Given the description of an element on the screen output the (x, y) to click on. 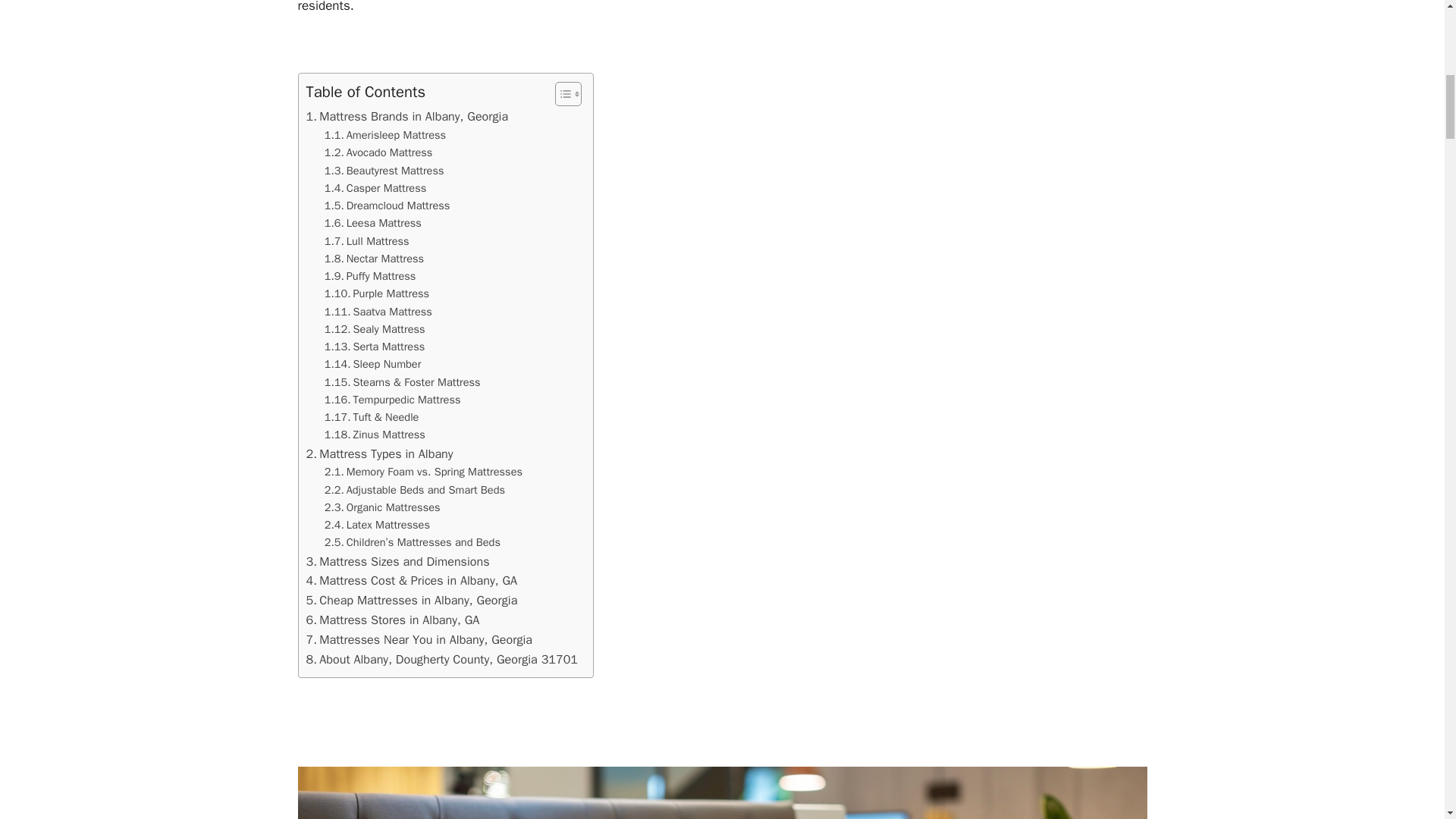
Avocado Mattress (378, 152)
Puffy Mattress (370, 276)
Beautyrest Mattress (384, 170)
Dreamcloud Mattress (386, 205)
Mattress Brands in Albany, Georgia (406, 116)
Amerisleep Mattress (384, 135)
Saatva Mattress (378, 312)
Casper Mattress (375, 188)
Nectar Mattress (373, 258)
Lull Mattress (366, 241)
